Given the description of an element on the screen output the (x, y) to click on. 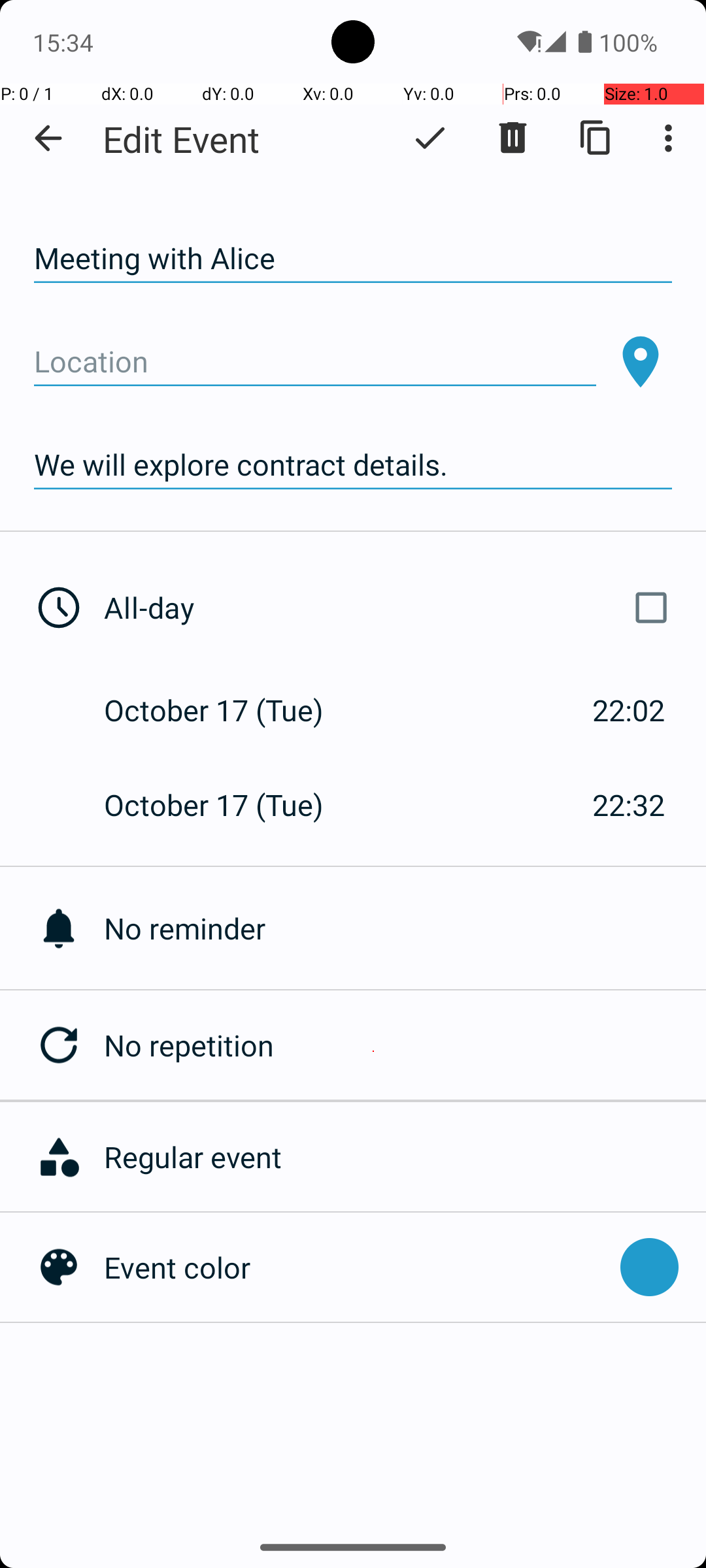
We will explore contract details. Element type: android.widget.EditText (352, 465)
October 17 (Tue) Element type: android.widget.TextView (227, 709)
22:02 Element type: android.widget.TextView (628, 709)
22:32 Element type: android.widget.TextView (628, 804)
